Given the description of an element on the screen output the (x, y) to click on. 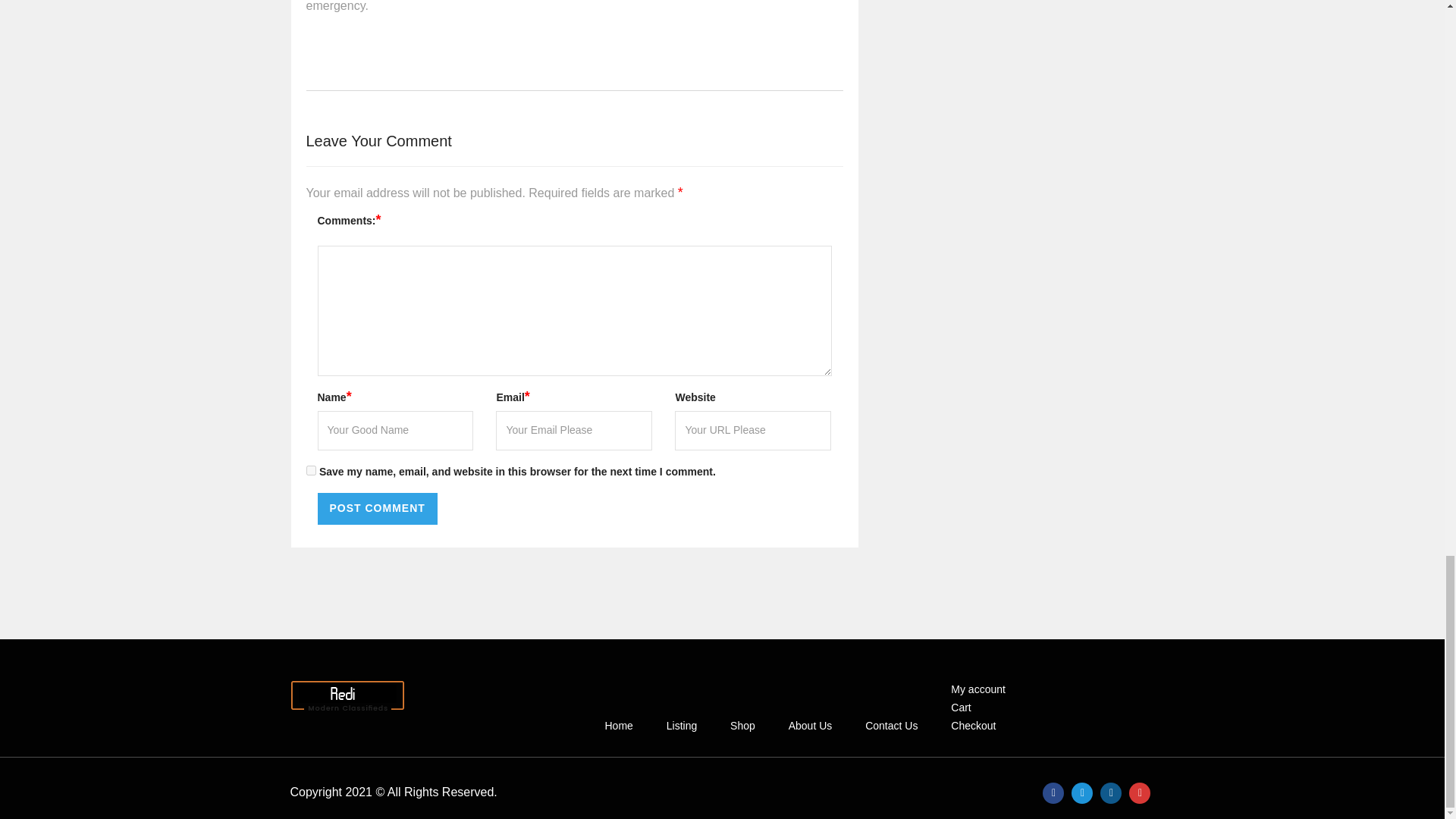
Post Comment (376, 508)
Contact Us (890, 725)
Checkout (973, 725)
yes (310, 470)
Listing (681, 725)
Post Comment (376, 508)
Shop (743, 725)
My account (977, 689)
Cart (960, 707)
Home (617, 725)
About Us (810, 725)
